Given the description of an element on the screen output the (x, y) to click on. 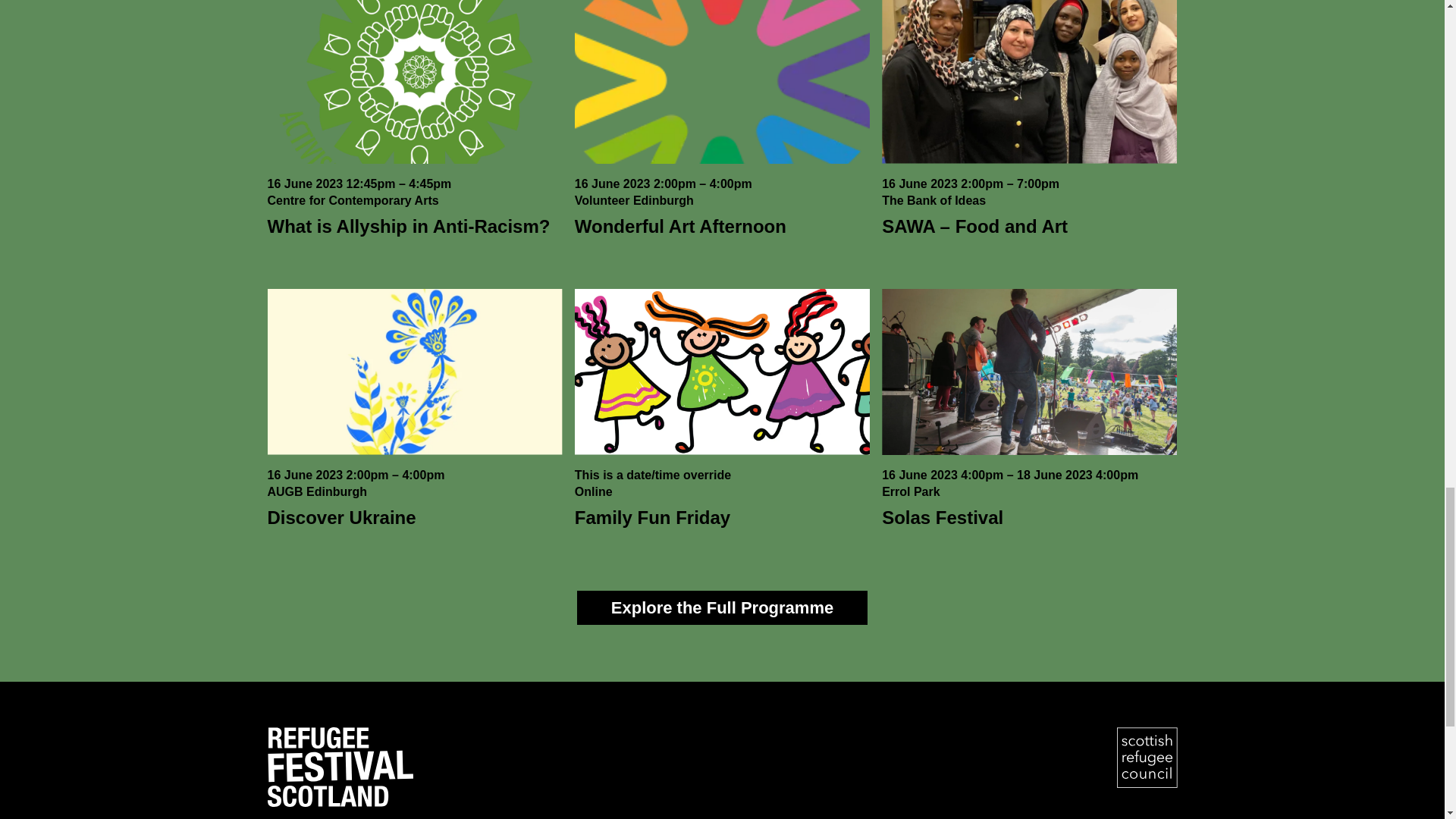
Solas Festival (942, 516)
Family Fun Friday (652, 516)
Discover Ukraine (340, 516)
What is Allyship in Anti-Racism? (408, 226)
Explore the Full Programme (721, 607)
Wonderful Art Afternoon (680, 226)
